Given the description of an element on the screen output the (x, y) to click on. 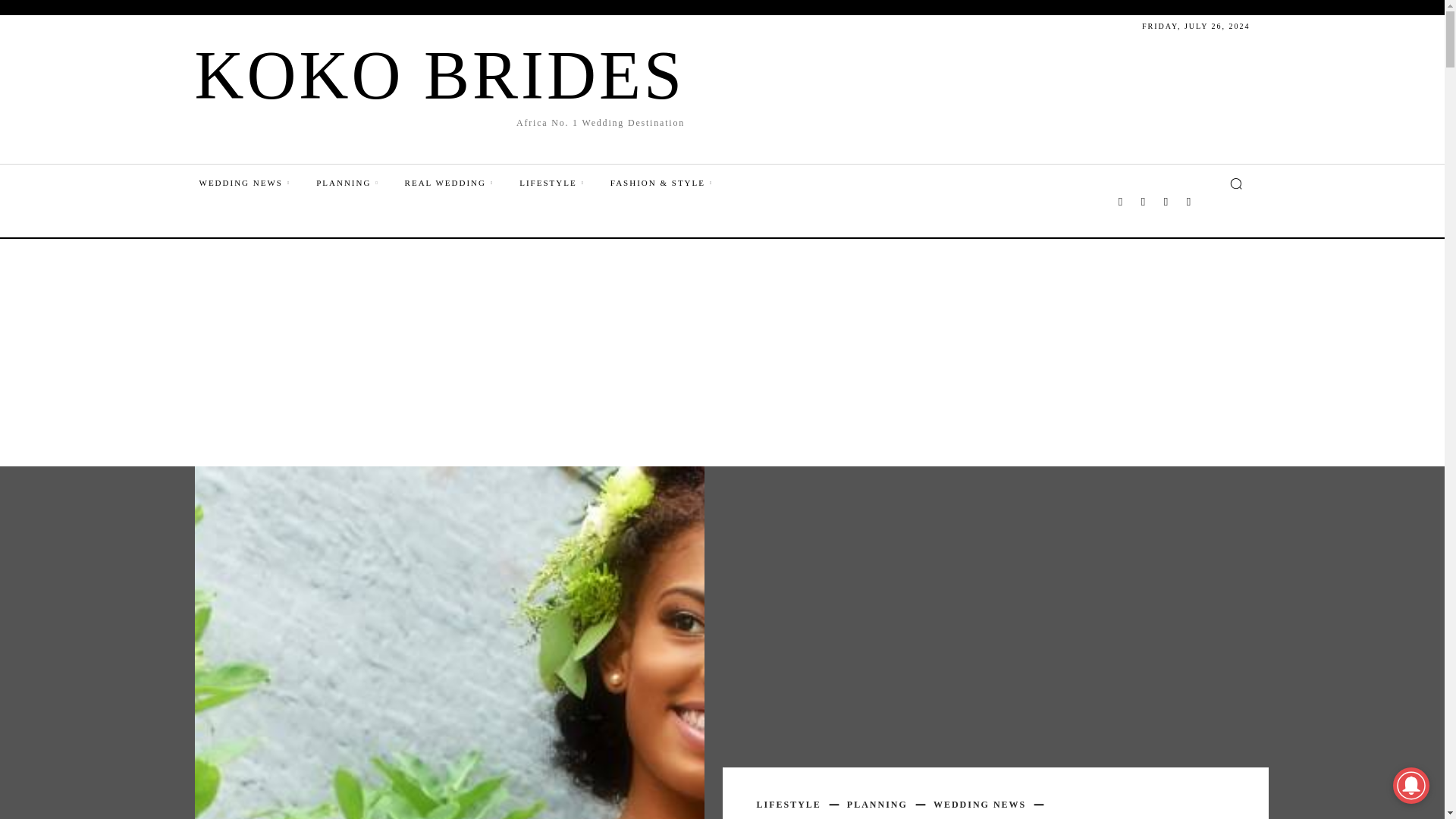
WEDDING NEWS (256, 182)
